Given the description of an element on the screen output the (x, y) to click on. 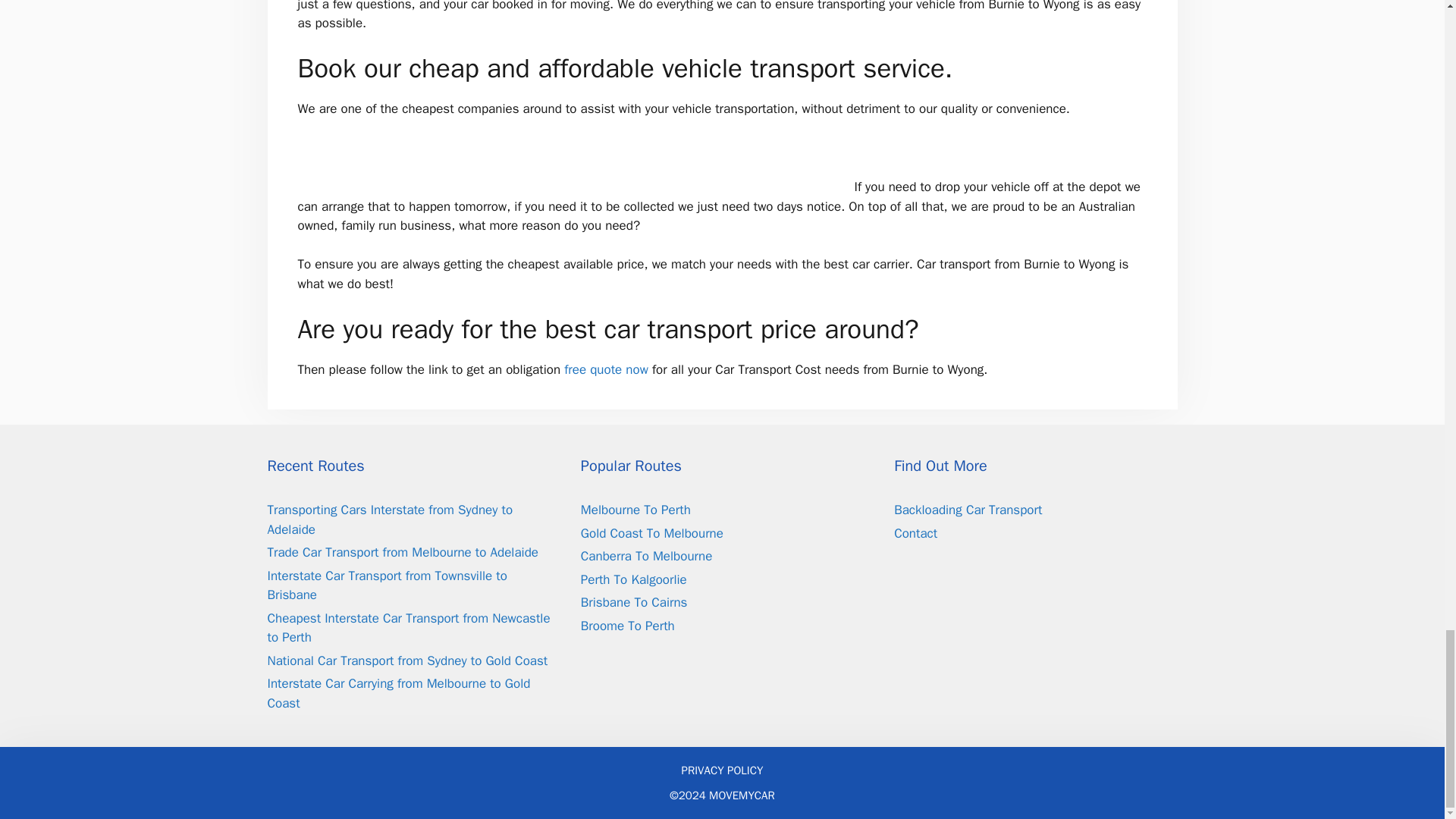
Interstate Car Transport from Townsville to Brisbane (386, 585)
Backloading Car Transport (967, 509)
National Car Transport from Sydney to Gold Coast (406, 660)
Contact (915, 533)
Perth To Kalgoorlie (633, 579)
PRIVACY POLICY (721, 770)
Trade Car Transport from Melbourne to Adelaide (401, 552)
free quote now (605, 369)
Broome To Perth (627, 625)
Transporting Cars Interstate from Sydney to Adelaide (389, 519)
